Given the description of an element on the screen output the (x, y) to click on. 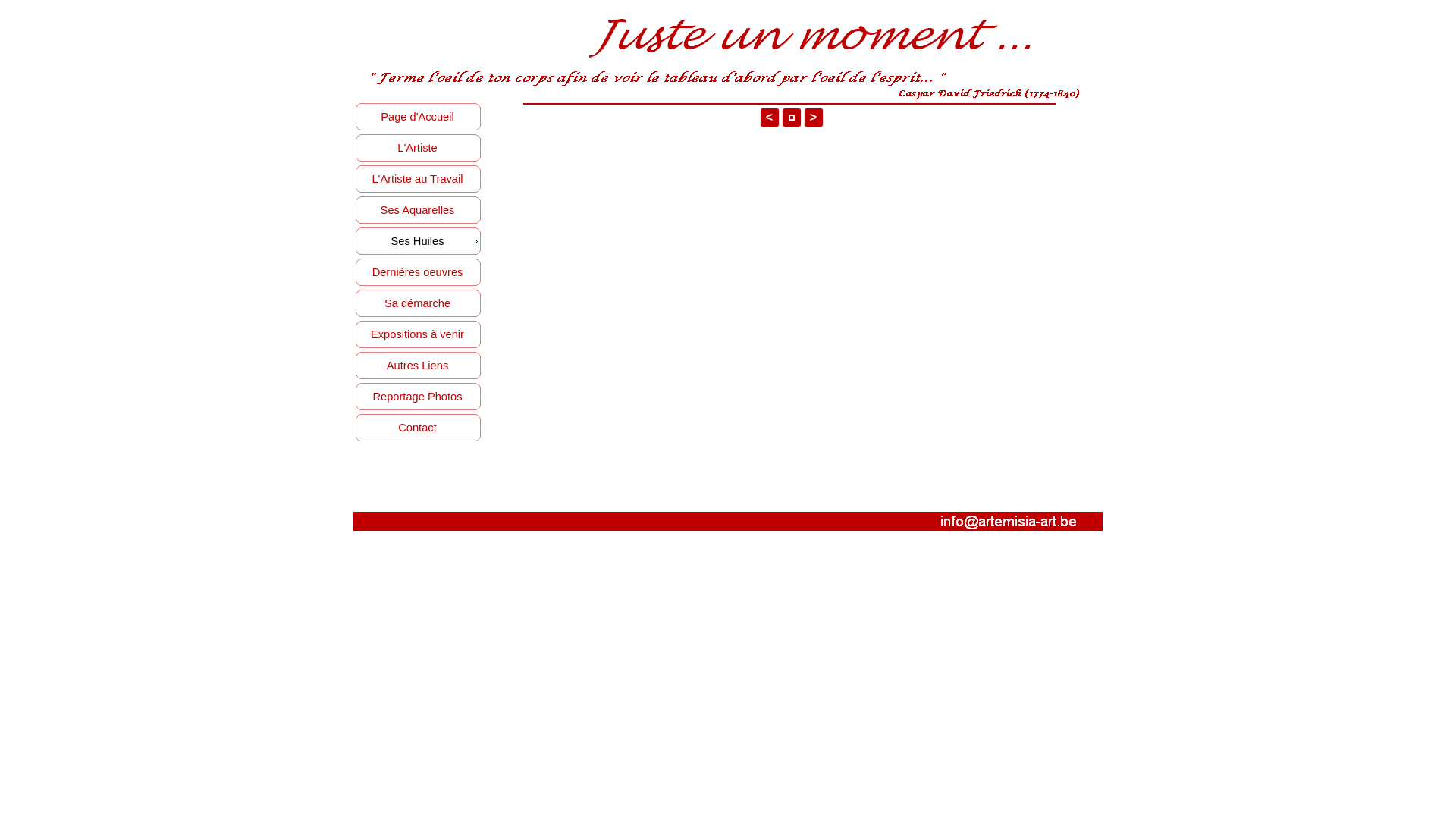
L'Artiste Element type: text (417, 148)
Autres Liens Element type: text (417, 365)
L'Artiste au Travail Element type: text (417, 179)
Reportage Photos Element type: text (417, 396)
Page d'Accueil Element type: text (417, 117)
Ses Aquarelles Element type: text (417, 210)
Contact Element type: text (417, 428)
